Given the description of an element on the screen output the (x, y) to click on. 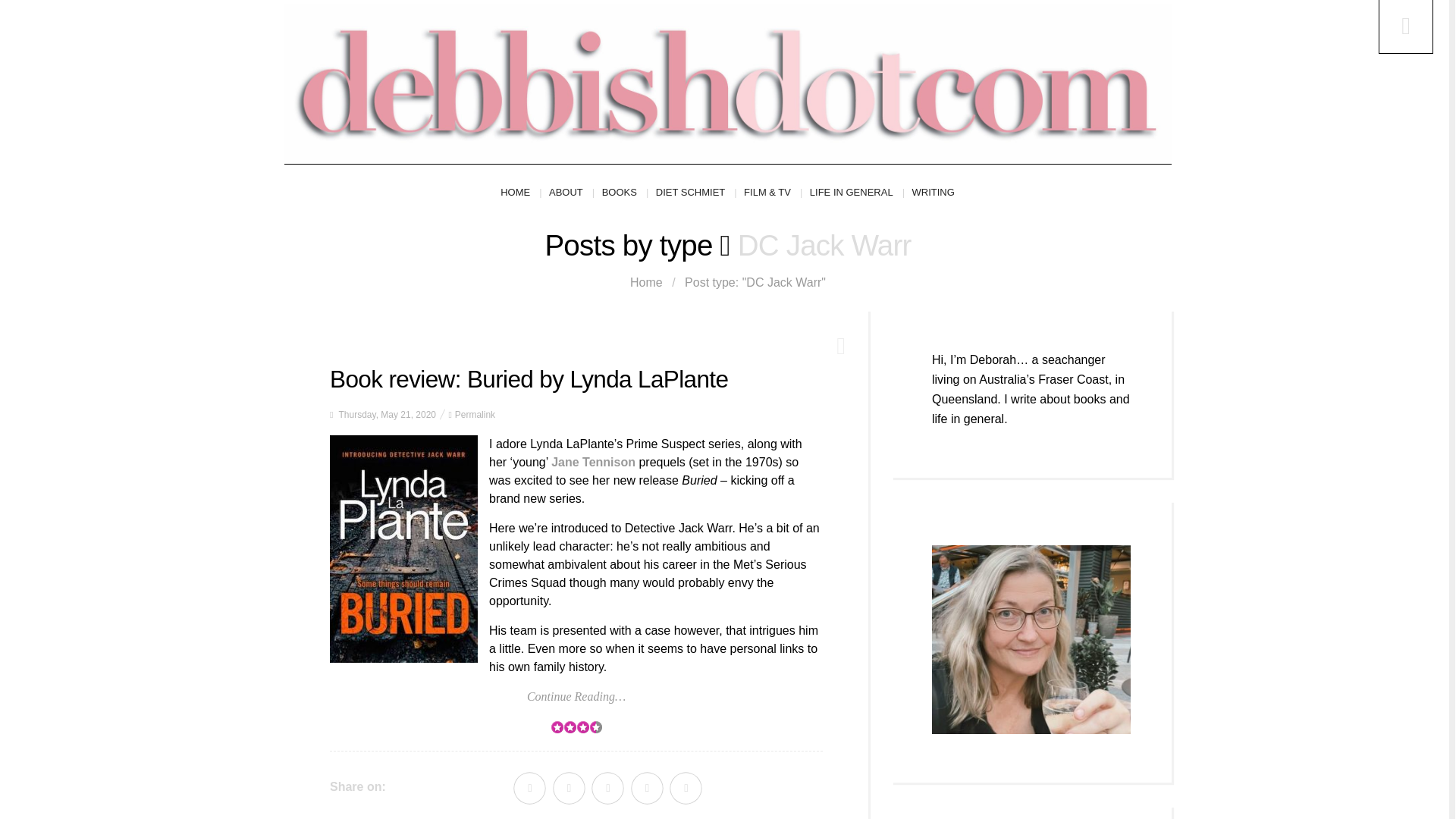
Home (646, 282)
Permalink Book review: Buried by Lynda LaPlante (474, 414)
Permalink Book review: Buried by Lynda LaPlante (529, 379)
DIET SCHMIET (695, 192)
LIFE IN GENERAL (856, 192)
Permalink (474, 414)
BOOKS (624, 192)
Jane Tennison (592, 461)
Book review: Buried by Lynda LaPlante (529, 379)
About me (1031, 639)
